Given the description of an element on the screen output the (x, y) to click on. 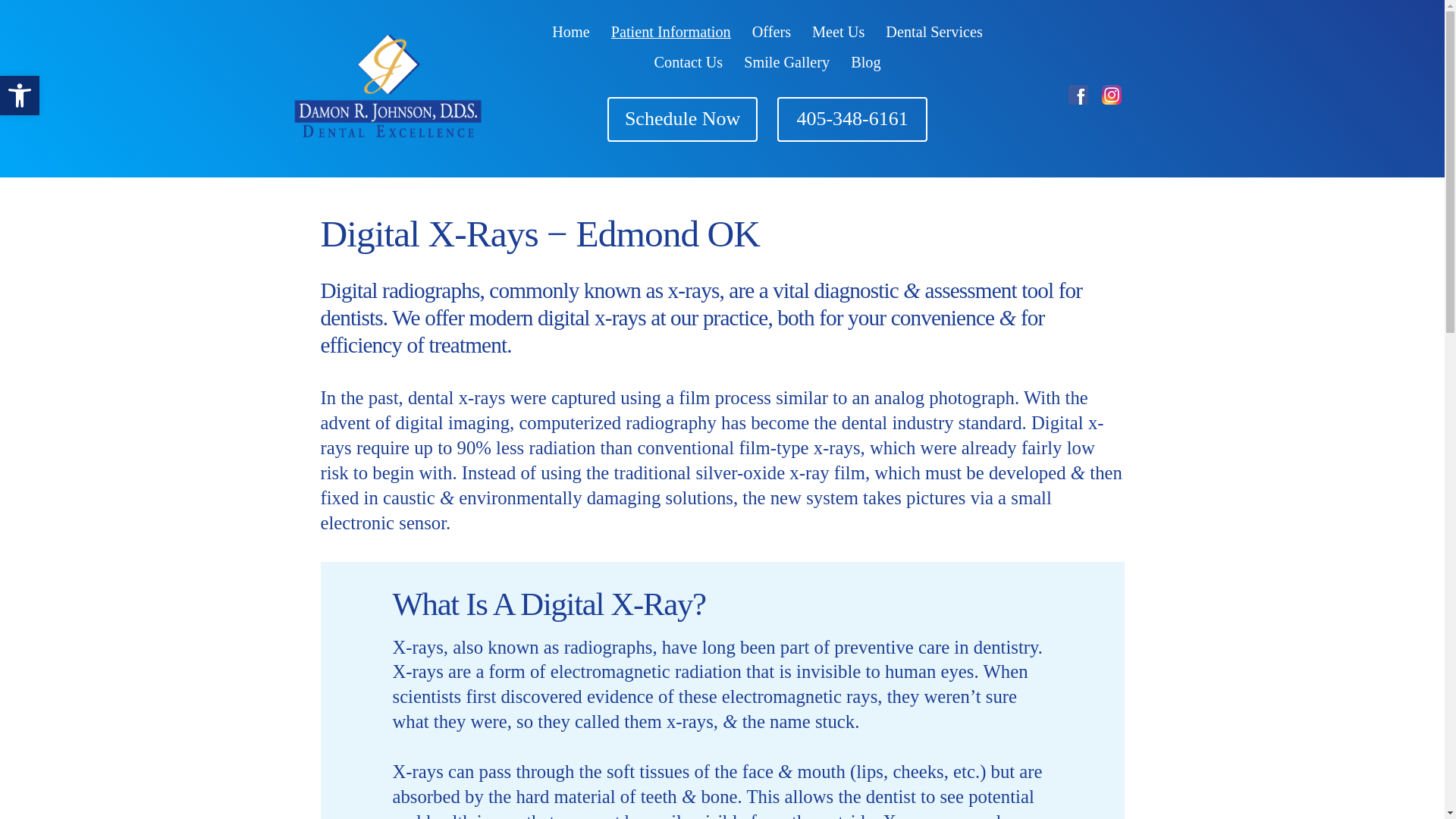
Accessibility Tools (19, 95)
Dental Services (933, 31)
Patient Information (670, 31)
Offers (771, 31)
Home (570, 31)
Accessibility Tools (19, 95)
Meet Us (838, 31)
